Given the description of an element on the screen output the (x, y) to click on. 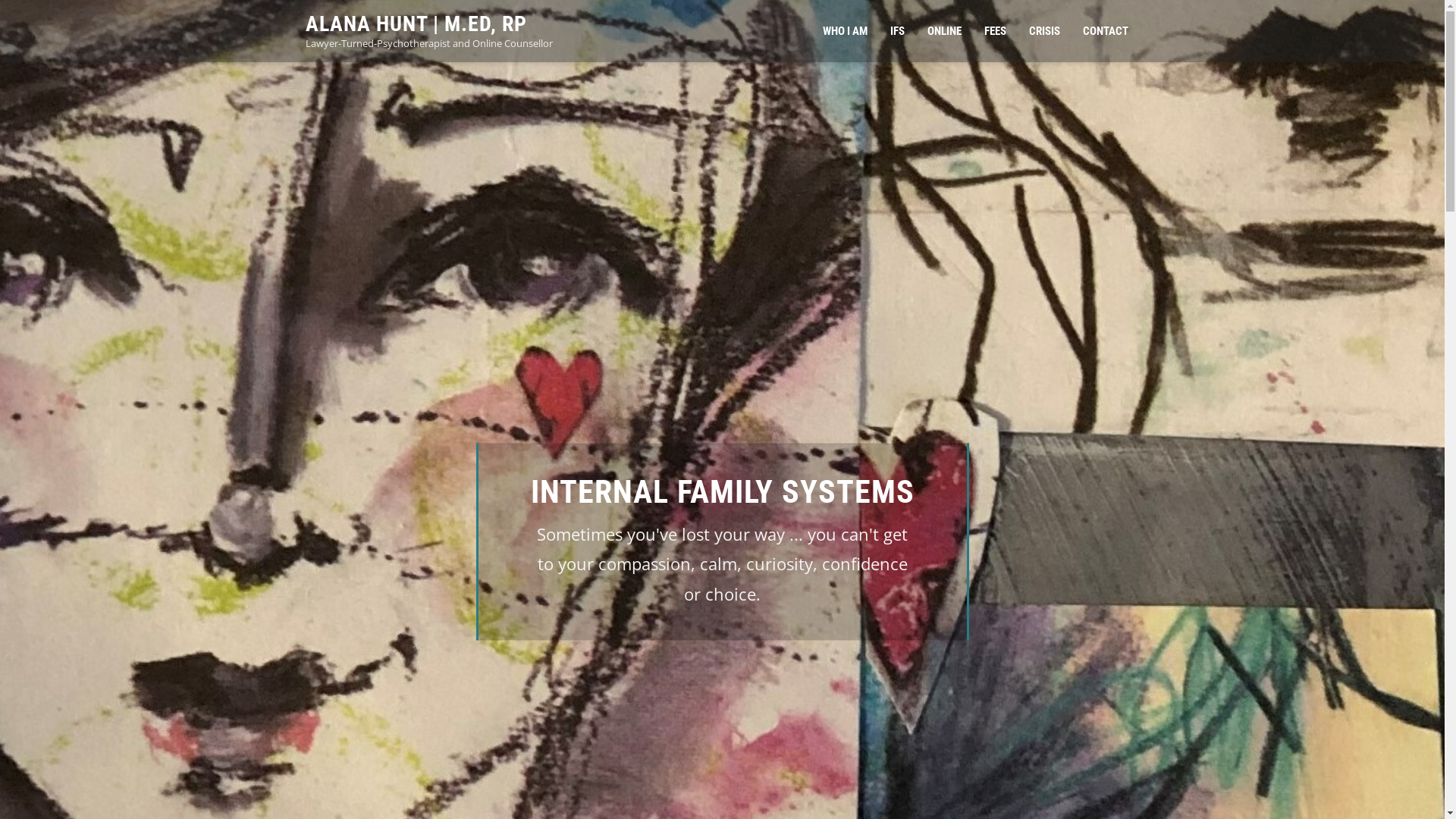
FEES Element type: text (994, 31)
WHO I AM Element type: text (844, 31)
IFS Element type: text (896, 31)
CONTACT Element type: text (1104, 31)
CRISIS Element type: text (1044, 31)
ONLINE Element type: text (944, 31)
ALANA HUNT | M.ED, RP Element type: text (415, 23)
